Given the description of an element on the screen output the (x, y) to click on. 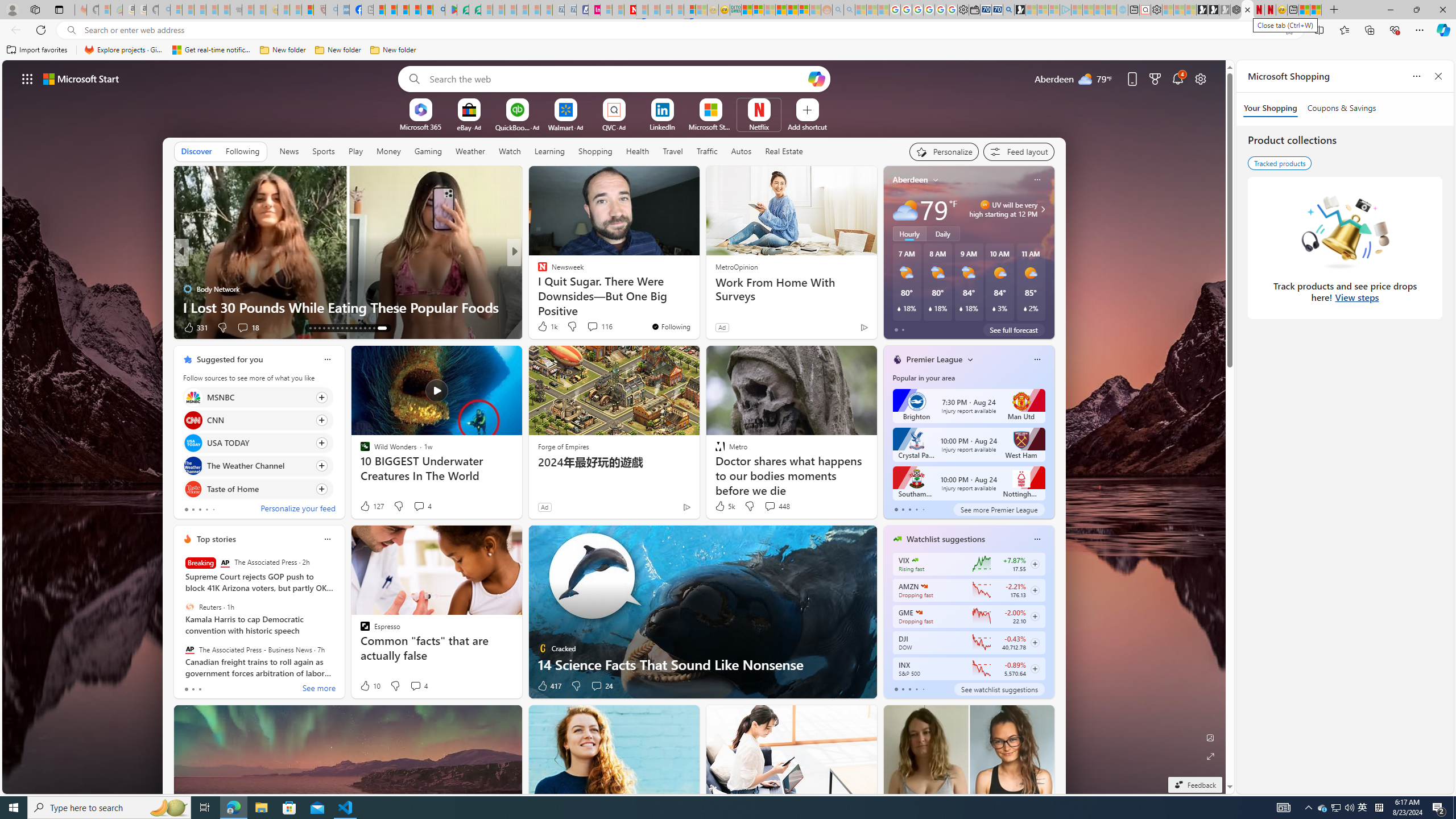
Suggested for you (229, 359)
Local - MSN (307, 9)
Click to follow source MSNBC (257, 397)
Reuters (189, 606)
tab-4 (923, 689)
tab-2 (908, 689)
View comments 24 Comment (595, 685)
